Given the description of an element on the screen output the (x, y) to click on. 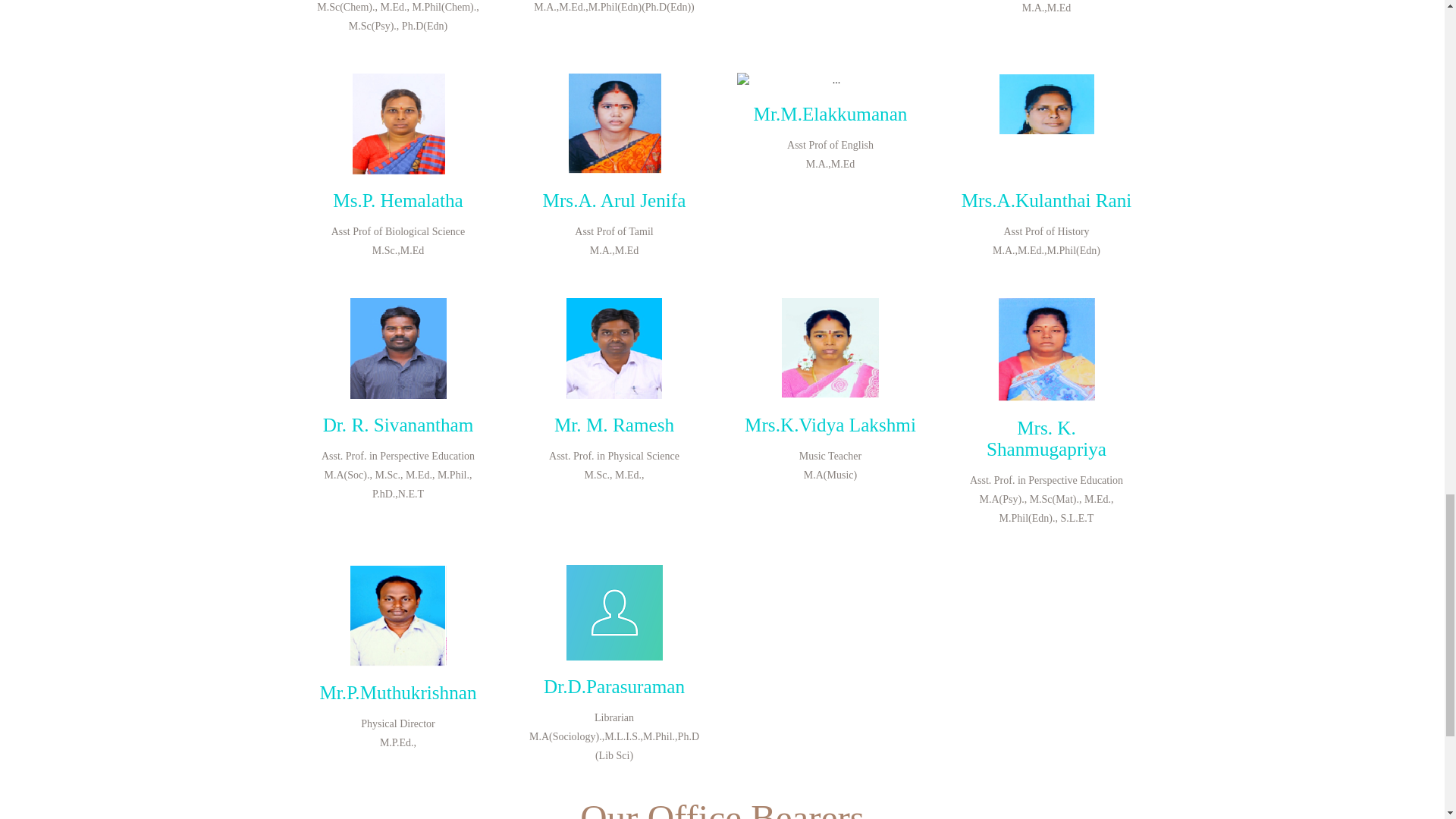
Mrs.A.Kulanthai Rani (1046, 200)
Mrs. K. Shanmugapriya (1046, 438)
Ms.P. Hemalatha (398, 200)
Mr.M.Elakkumanan (830, 114)
Mr. M. Ramesh (614, 424)
Mrs.A. Arul Jenifa (614, 200)
Dr. R. Sivanantham (398, 424)
Dr.D.Parasuraman (613, 686)
Mrs.K.Vidya Lakshmi (829, 424)
Mr.P.Muthukrishnan (397, 692)
